Given the description of an element on the screen output the (x, y) to click on. 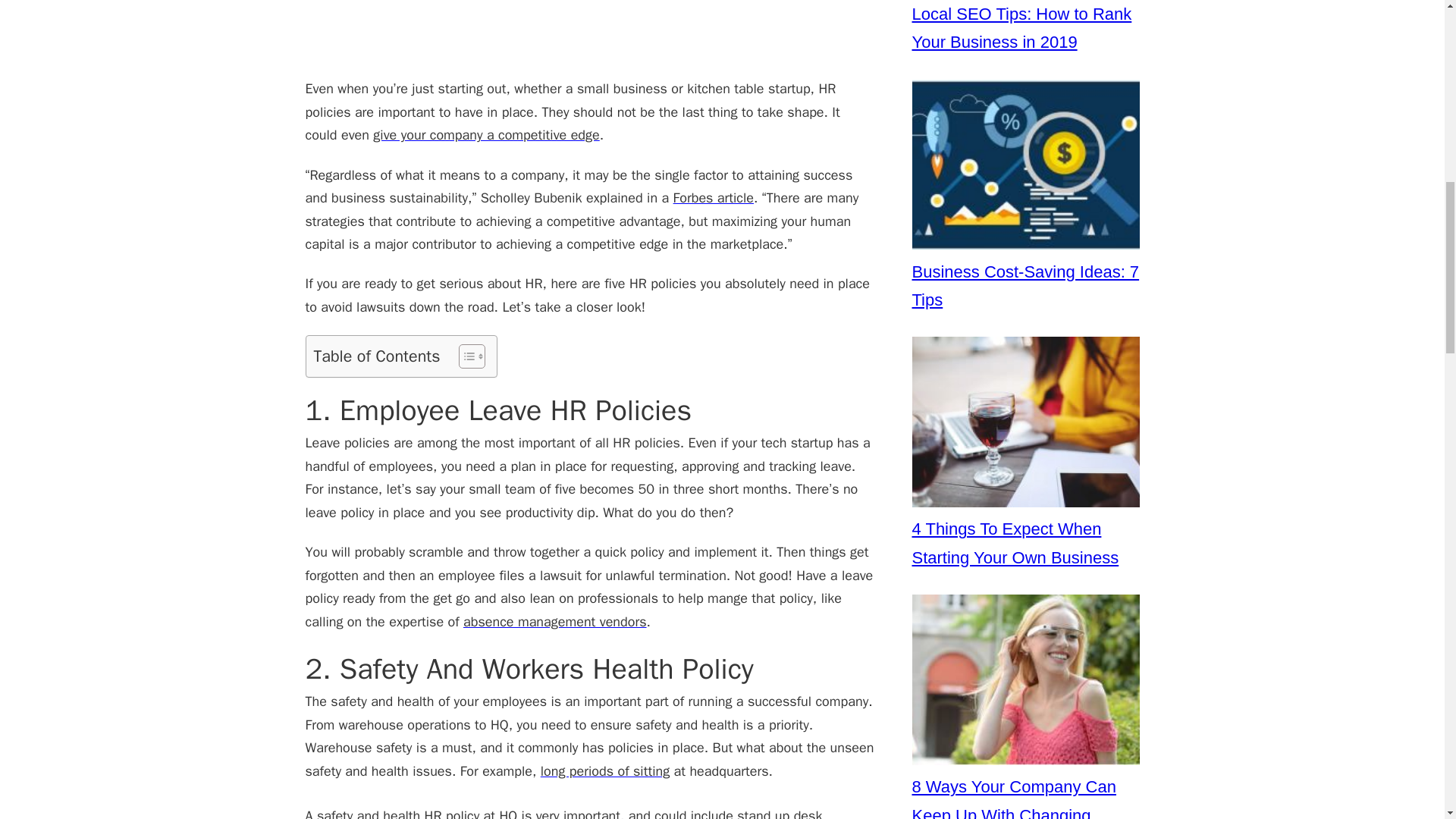
Advertisement (588, 38)
give your company a competitive edge (485, 134)
long periods of sitting (604, 770)
absence management vendors (554, 621)
Forbes article (713, 197)
